Given the description of an element on the screen output the (x, y) to click on. 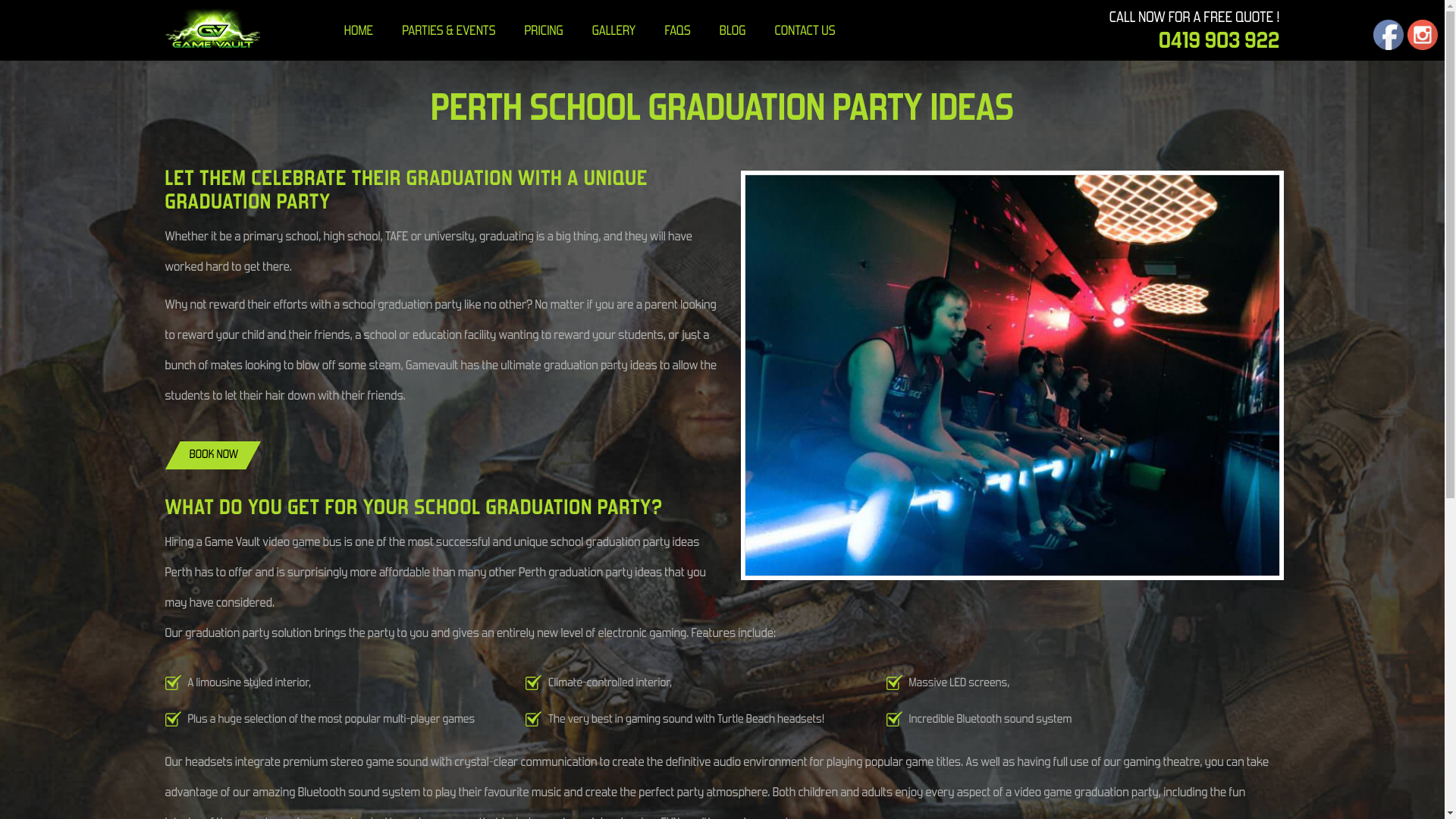
Facebook Element type: hover (1388, 34)
FAQS Element type: text (676, 30)
HOME Element type: text (358, 30)
CONTACT US Element type: text (804, 30)
Instagram Element type: hover (1422, 34)
PRICING Element type: text (543, 30)
0419 903 922 Element type: text (1218, 40)
BLOG Element type: text (732, 30)
PARTIES & EVENTS Element type: text (448, 30)
GALLERY Element type: text (614, 30)
BOOK NOW Element type: text (210, 455)
